Given the description of an element on the screen output the (x, y) to click on. 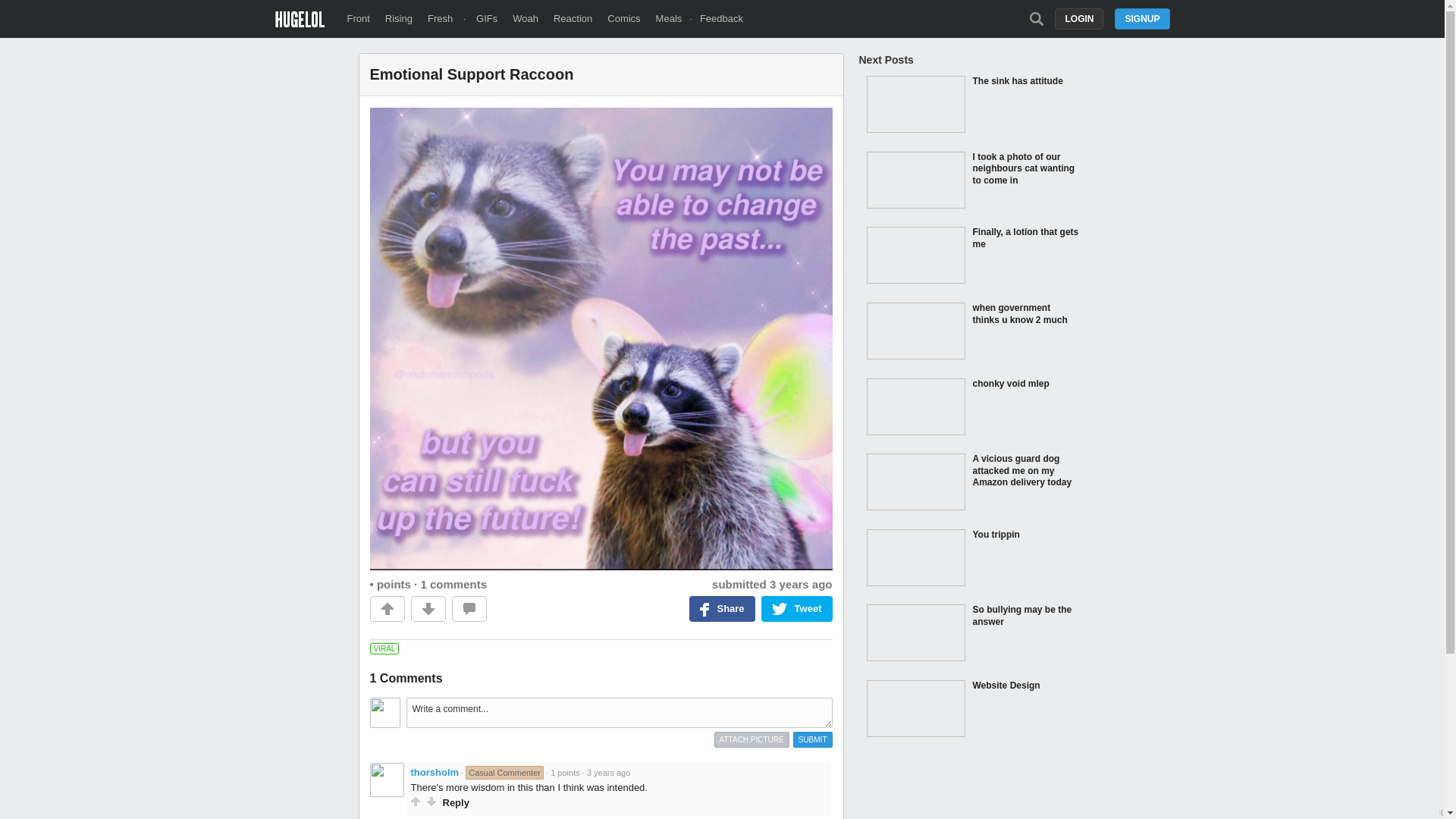
So bullying may be the answer (972, 634)
I took a photo of our neighbours cat wanting to come in (972, 182)
2021-03-07T04:51:41-05:00 (608, 772)
Finally, a lotion that gets me (972, 256)
Fresh (440, 18)
2021-03-06T21:20:10-05:00 (801, 584)
thorsholm (435, 772)
Website Design (972, 710)
chonky void mlep (972, 408)
The sink has attitude (972, 105)
GIFs (486, 18)
Reaction (572, 18)
Woah (525, 18)
You trippin (972, 559)
Comics (623, 18)
